Given the description of an element on the screen output the (x, y) to click on. 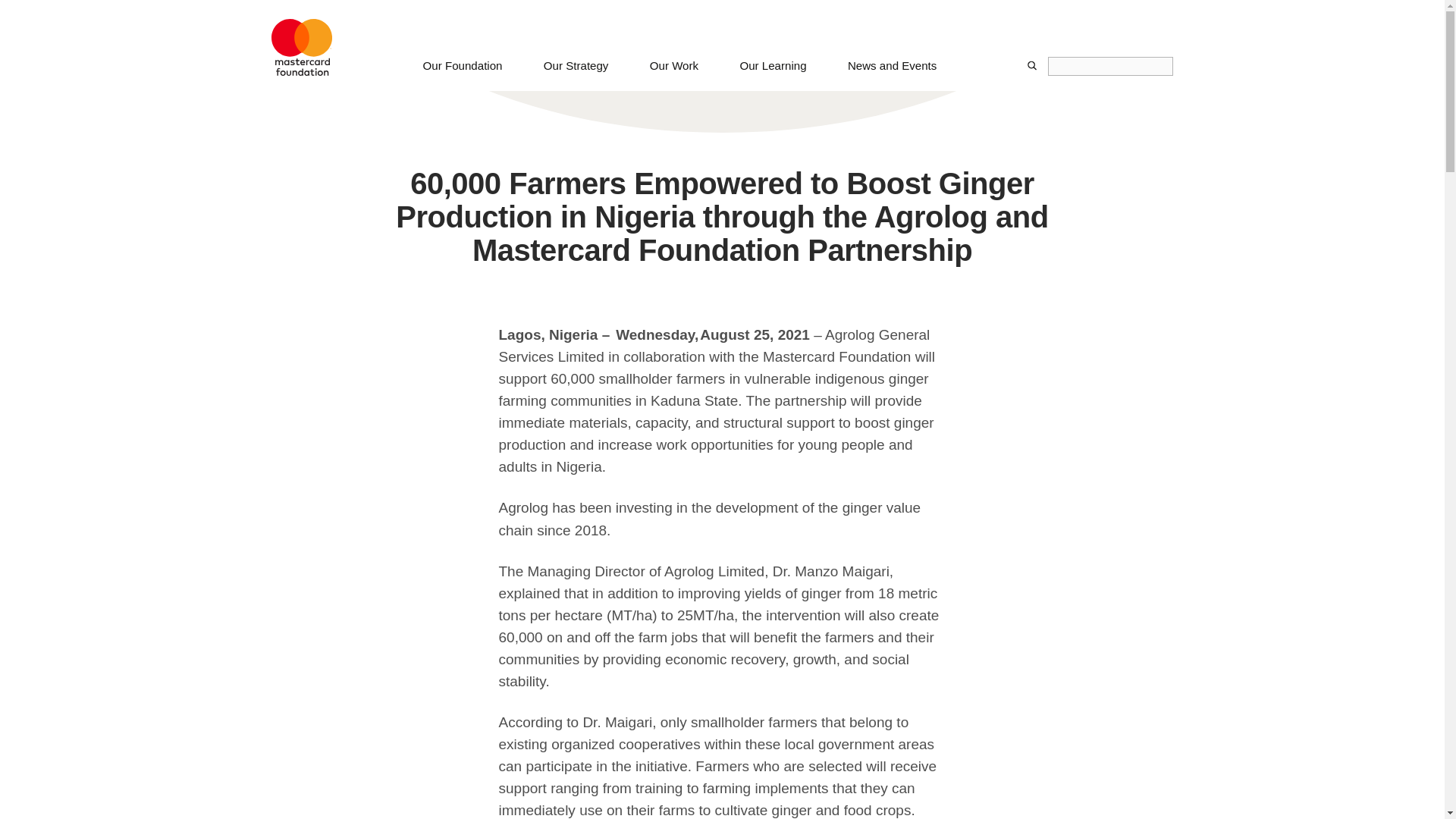
Our Strategy (575, 73)
Our Learning (772, 73)
Our Foundation (462, 73)
Our Work (673, 73)
